Given the description of an element on the screen output the (x, y) to click on. 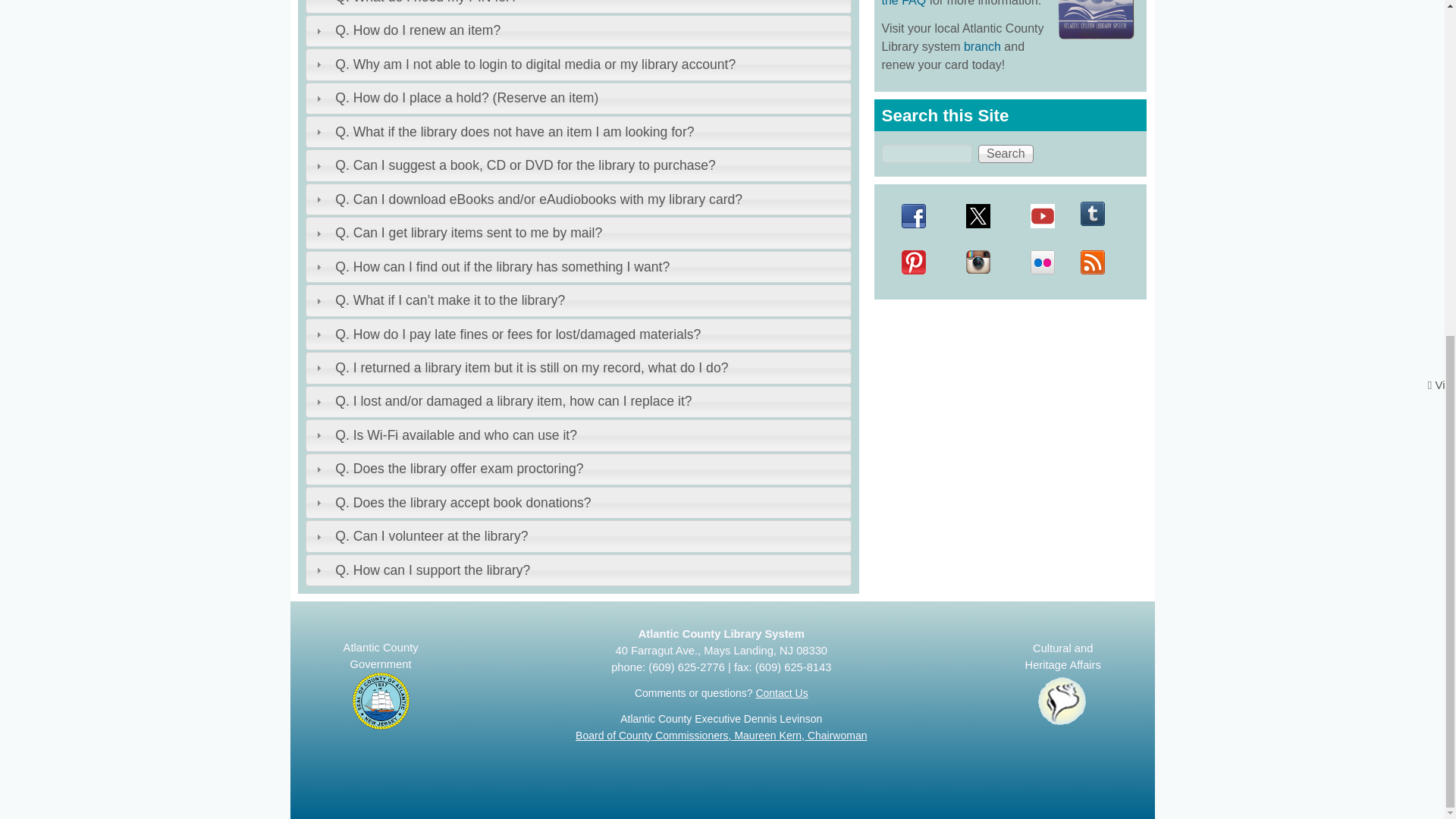
Search (1005, 153)
